Given the description of an element on the screen output the (x, y) to click on. 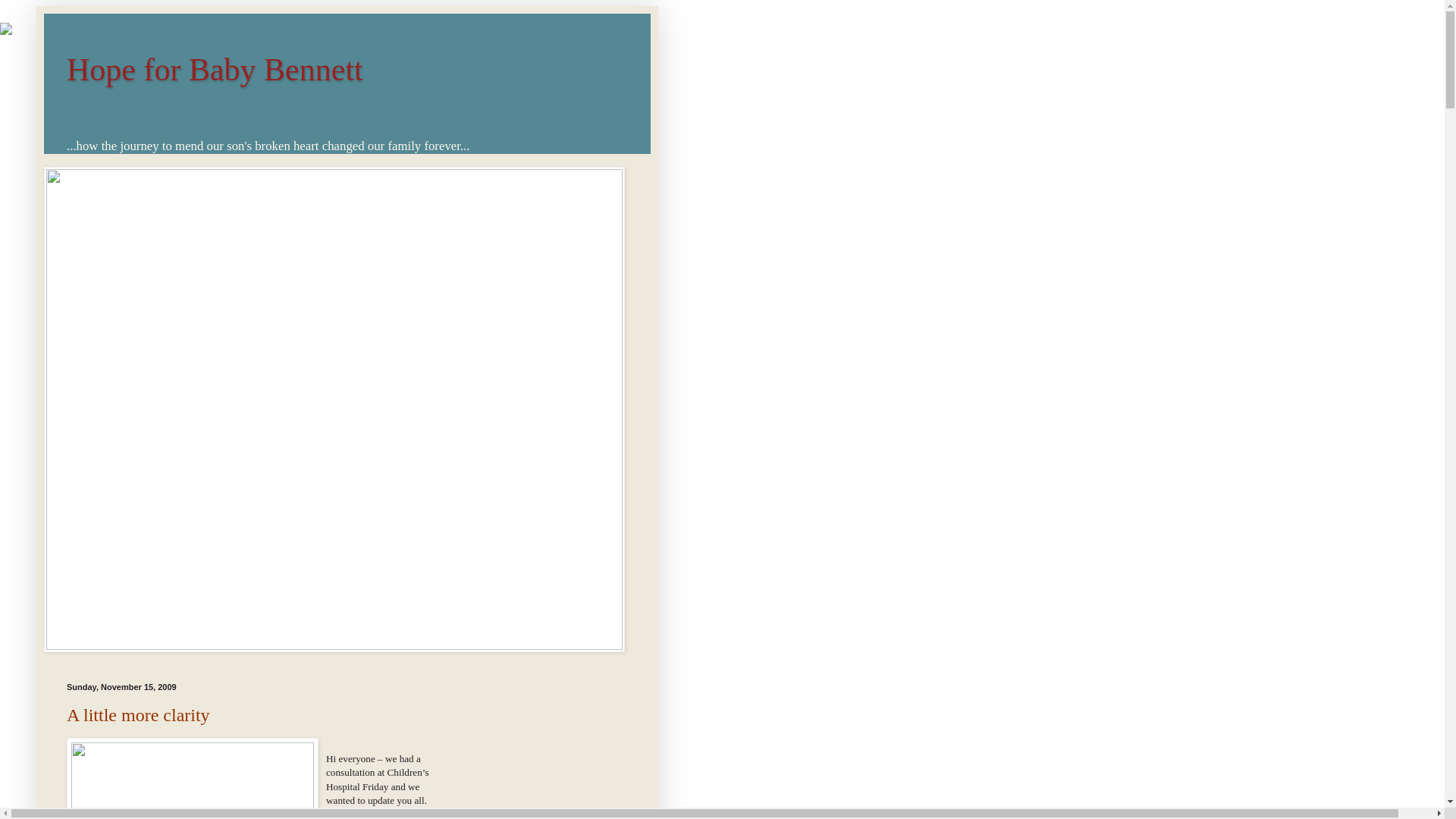
A little more clarity (137, 714)
Hope for Baby Bennett (214, 69)
